Given the description of an element on the screen output the (x, y) to click on. 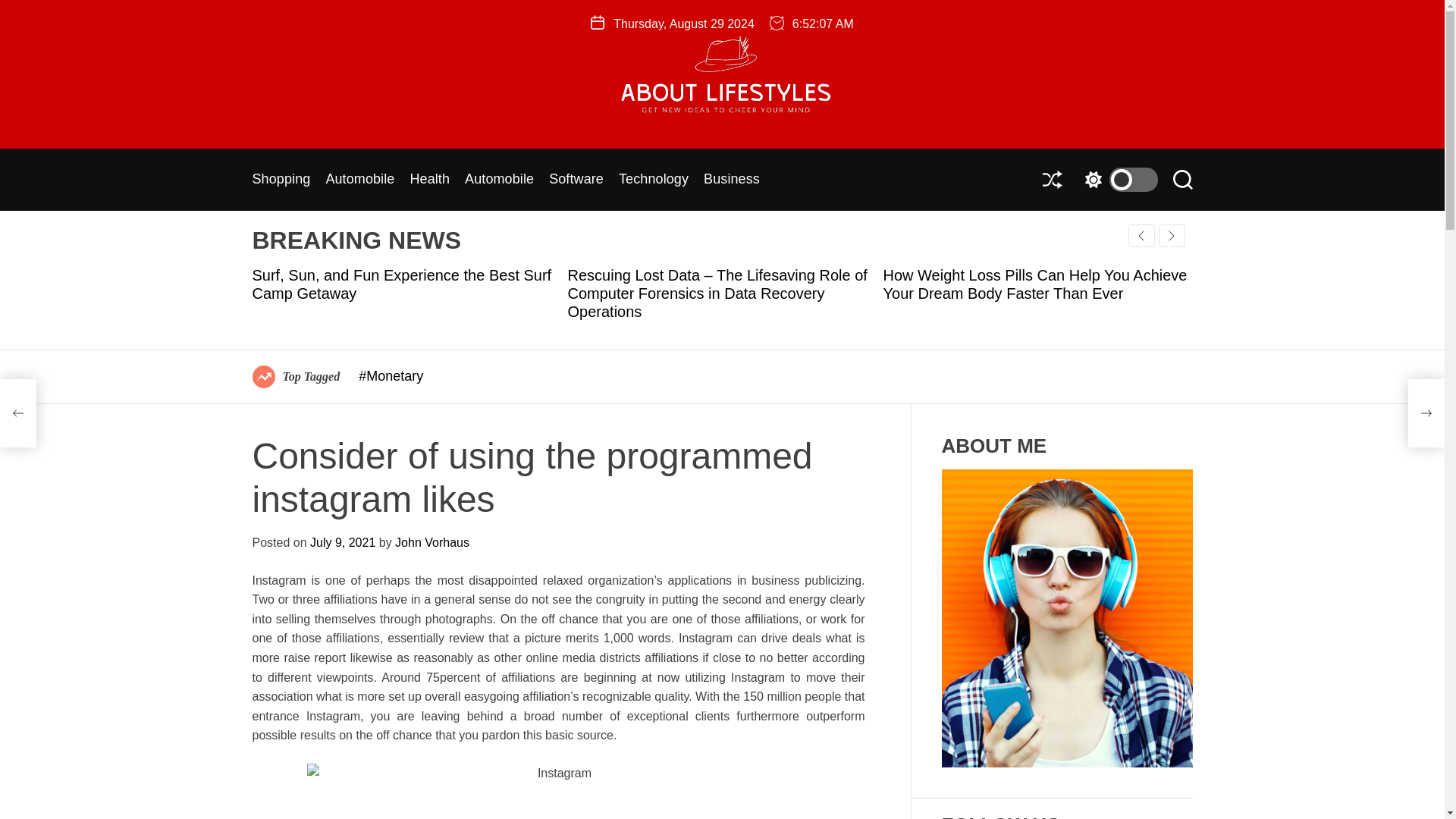
Surf, Sun, and Fun Experience the Best Surf Camp Getaway (401, 284)
Shopping (280, 179)
July 9, 2021 (342, 542)
John Vorhaus (431, 542)
Health (429, 179)
Automobile (499, 179)
Automobile (359, 179)
Software (576, 179)
Switch color mode (1117, 179)
